Given the description of an element on the screen output the (x, y) to click on. 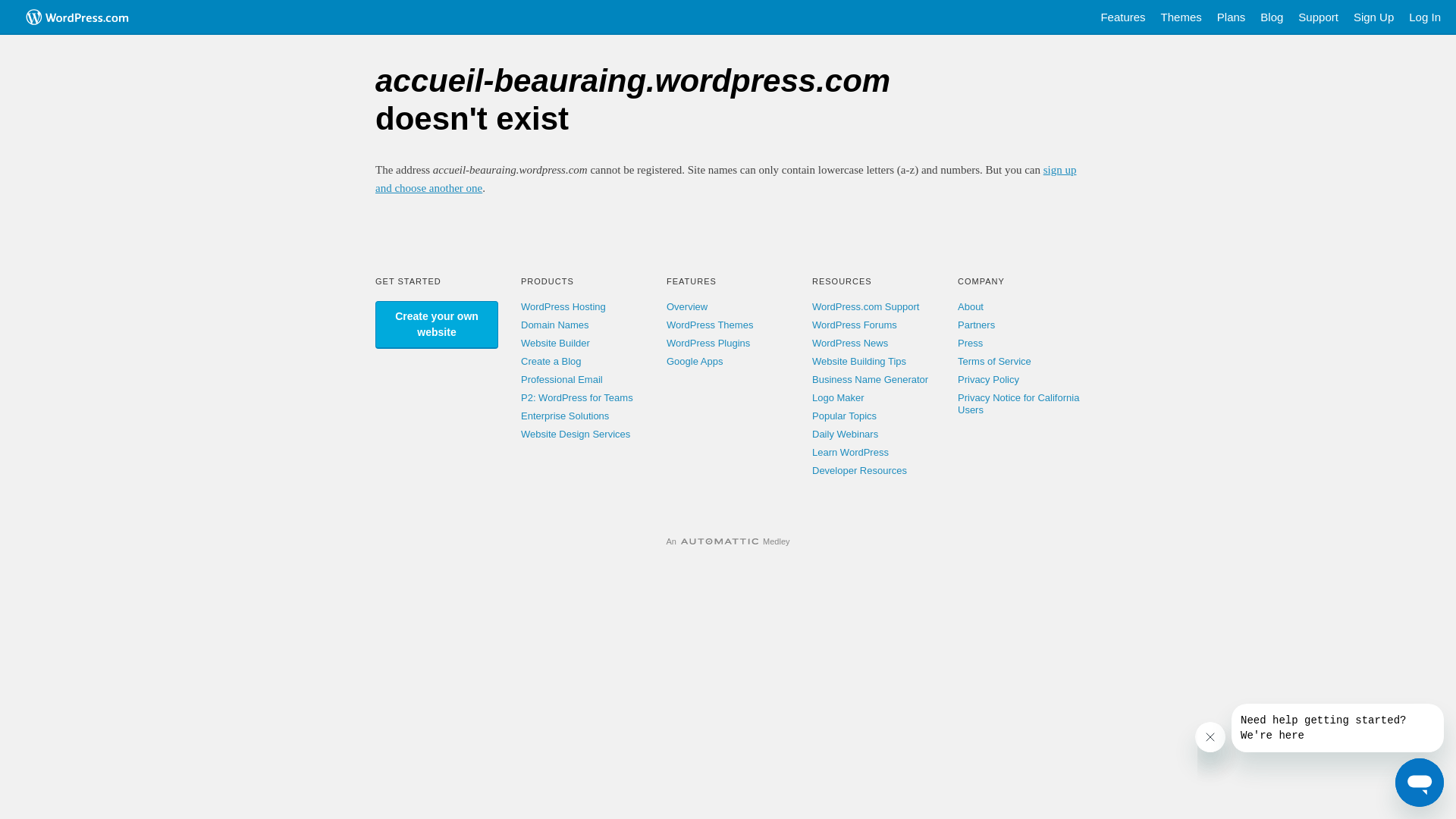
Support Element type: text (1318, 17)
Popular Topics Element type: text (844, 415)
WordPress Forums Element type: text (854, 324)
Log In Element type: text (1424, 17)
Daily Webinars Element type: text (845, 433)
Blog Element type: text (1271, 17)
Google Apps Element type: text (694, 361)
Themes Element type: text (1181, 17)
Features Element type: text (1122, 17)
About Element type: text (970, 306)
sign up and choose another one Element type: text (725, 178)
WordPress Themes Element type: text (709, 324)
Close message Element type: hover (1210, 736)
WordPress News Element type: text (850, 342)
Button to launch messaging window Element type: hover (1419, 782)
Terms of Service Element type: text (994, 361)
Website Building Tips Element type: text (859, 361)
Developer Resources Element type: text (859, 470)
Website Design Services Element type: text (575, 433)
Plans Element type: text (1231, 17)
Website Builder Element type: text (554, 342)
Professional Email Element type: text (561, 379)
Domain Names Element type: text (554, 324)
Business Name Generator Element type: text (870, 379)
P2: WordPress for Teams Element type: text (576, 397)
Enterprise Solutions Element type: text (564, 415)
Learn WordPress Element type: text (850, 452)
Partners Element type: text (975, 324)
Press Element type: text (969, 342)
Privacy Notice for California Users Element type: text (1018, 403)
Sign Up Element type: text (1373, 17)
WordPress Plugins Element type: text (707, 342)
Privacy Policy Element type: text (988, 379)
WordPress Hosting Element type: text (562, 306)
Automattic Element type: text (719, 541)
Overview Element type: text (686, 306)
Create your own website Element type: text (436, 324)
WordPress.com Support Element type: text (865, 306)
Logo Maker Element type: text (838, 397)
Message from company Element type: hover (1337, 727)
Create a Blog Element type: text (550, 361)
